Given the description of an element on the screen output the (x, y) to click on. 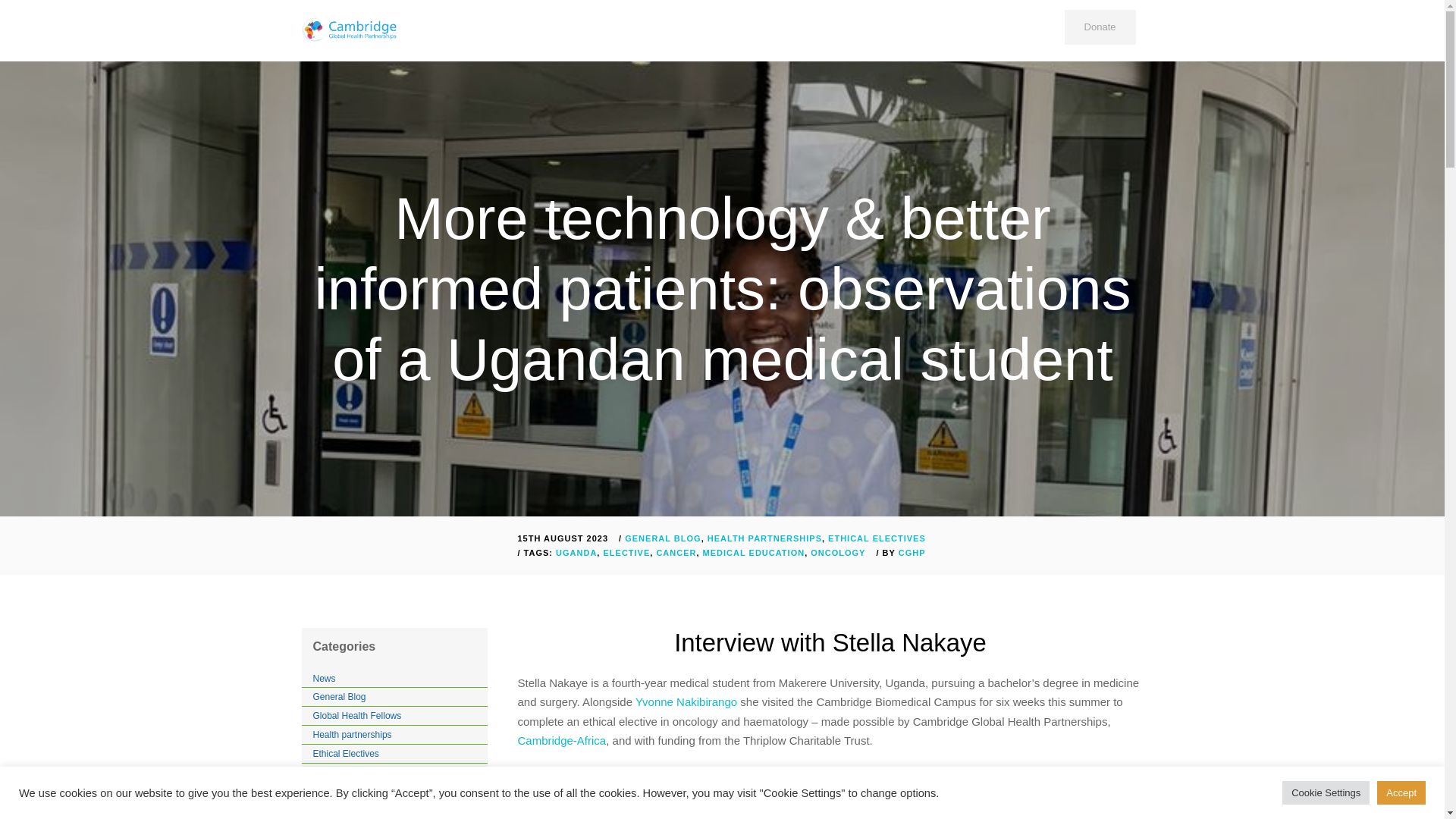
View all posts in General Blog (662, 538)
View all posts in Ethical Electives (877, 538)
View all posts in Health partnerships (764, 538)
